Given the description of an element on the screen output the (x, y) to click on. 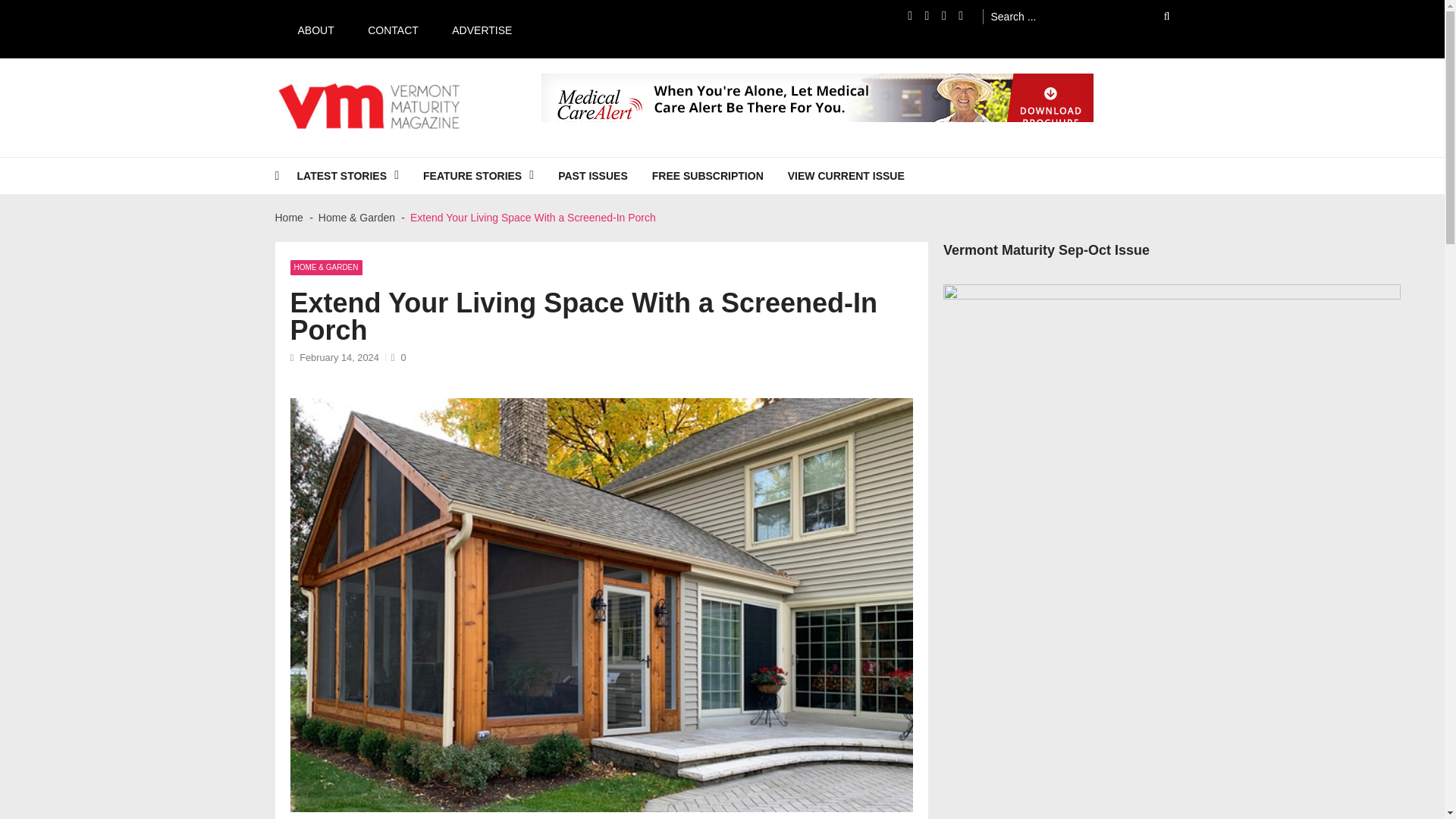
ABOUT (307, 29)
ADVERTISE (474, 29)
Search (1156, 15)
CONTACT (385, 29)
Search (1156, 15)
Search (1156, 15)
